Given the description of an element on the screen output the (x, y) to click on. 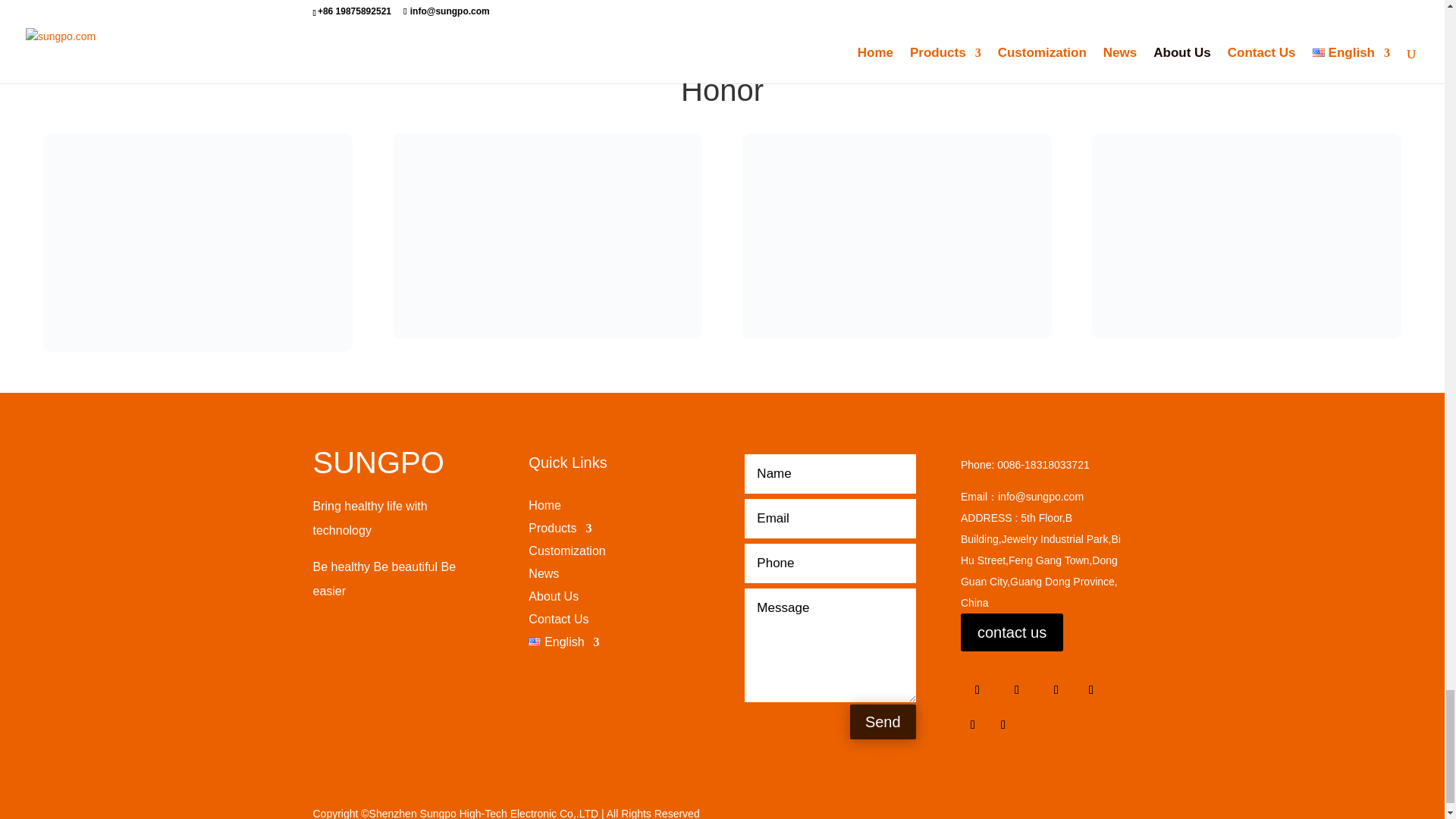
News (543, 576)
Products (559, 531)
Home (544, 508)
Customization (566, 554)
